Given the description of an element on the screen output the (x, y) to click on. 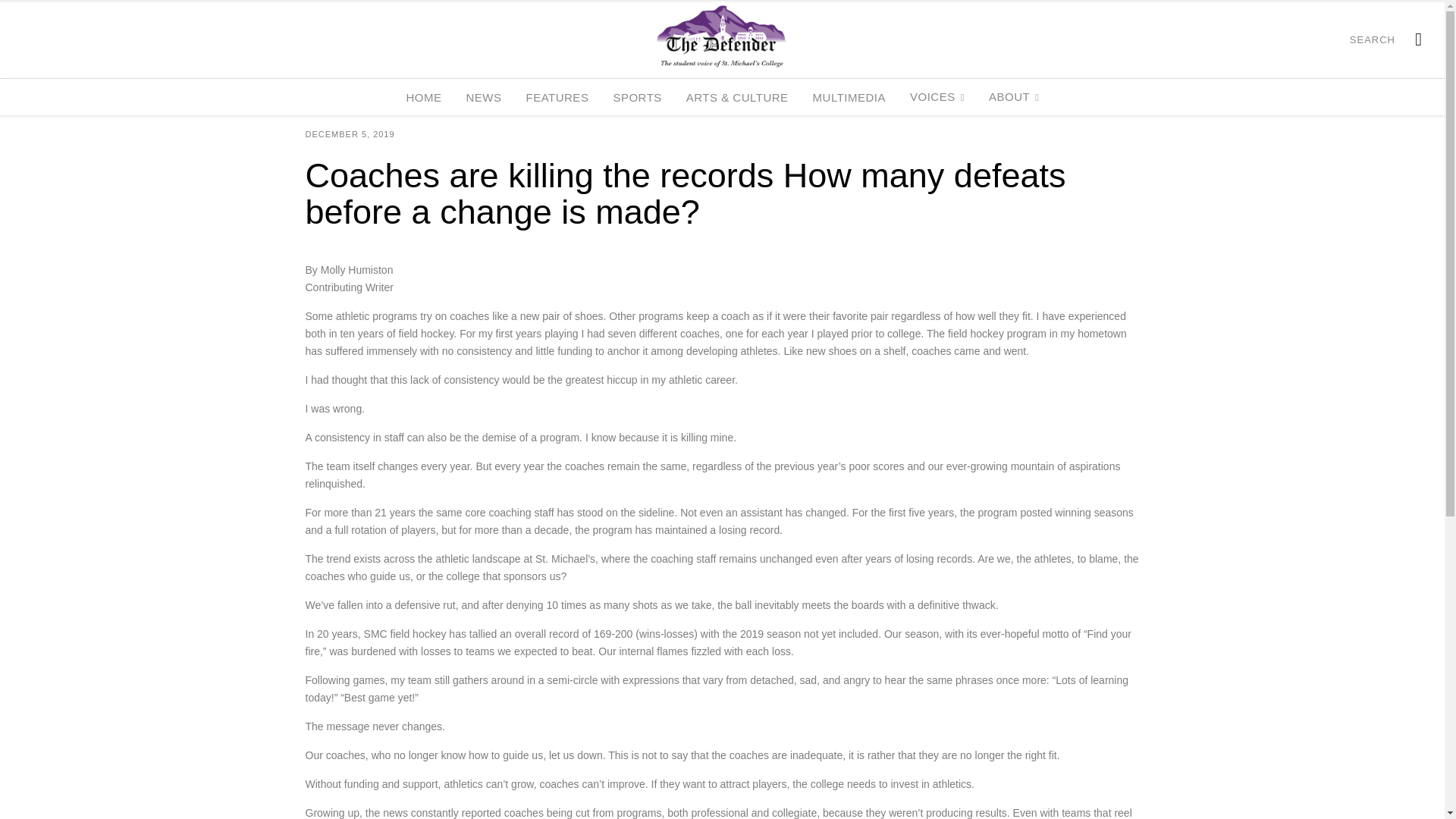
FEATURES (556, 96)
NEWS (482, 96)
HOME (422, 96)
SPORTS (635, 96)
MULTIMEDIA (849, 96)
ABOUT (1013, 96)
VOICES (937, 96)
